Given the description of an element on the screen output the (x, y) to click on. 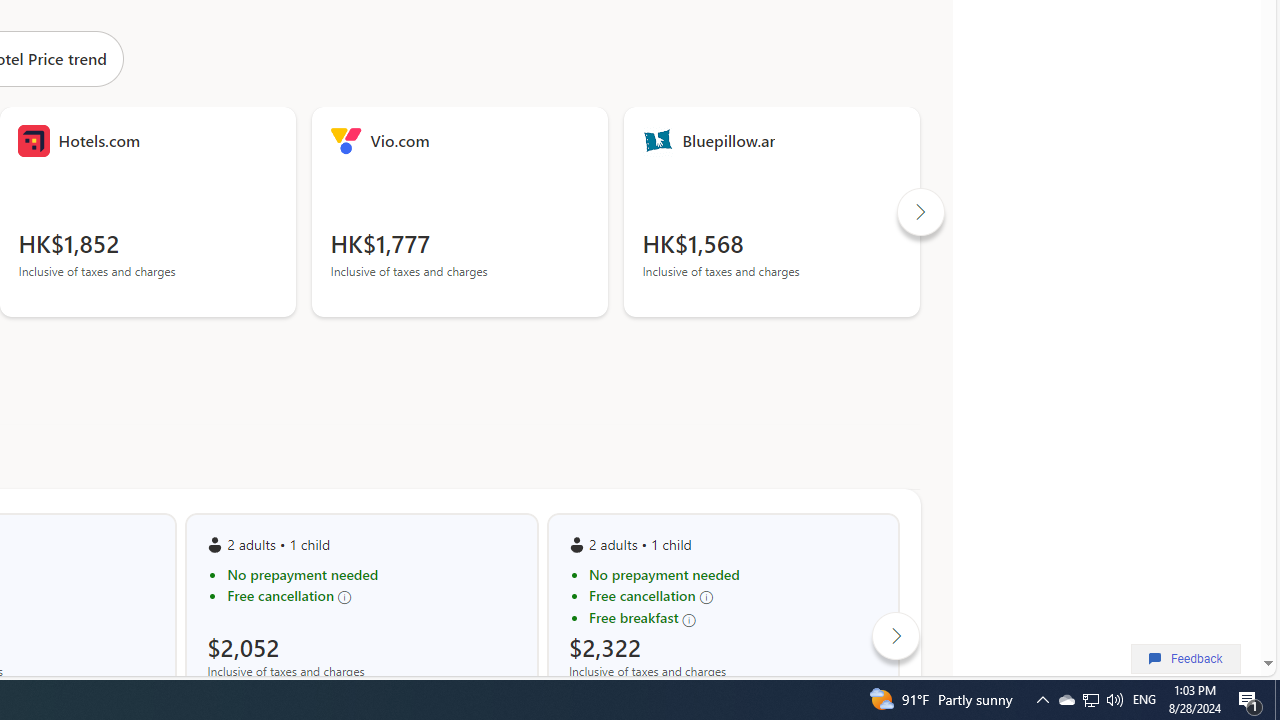
Vendor Logo (658, 140)
Click to scroll right (896, 635)
Vendor Logo Vio.com HK$1,777 Inclusive of taxes and charges (460, 211)
Free breakfast (733, 618)
Free cancellation (733, 595)
No prepayment needed (733, 574)
